Given the description of an element on the screen output the (x, y) to click on. 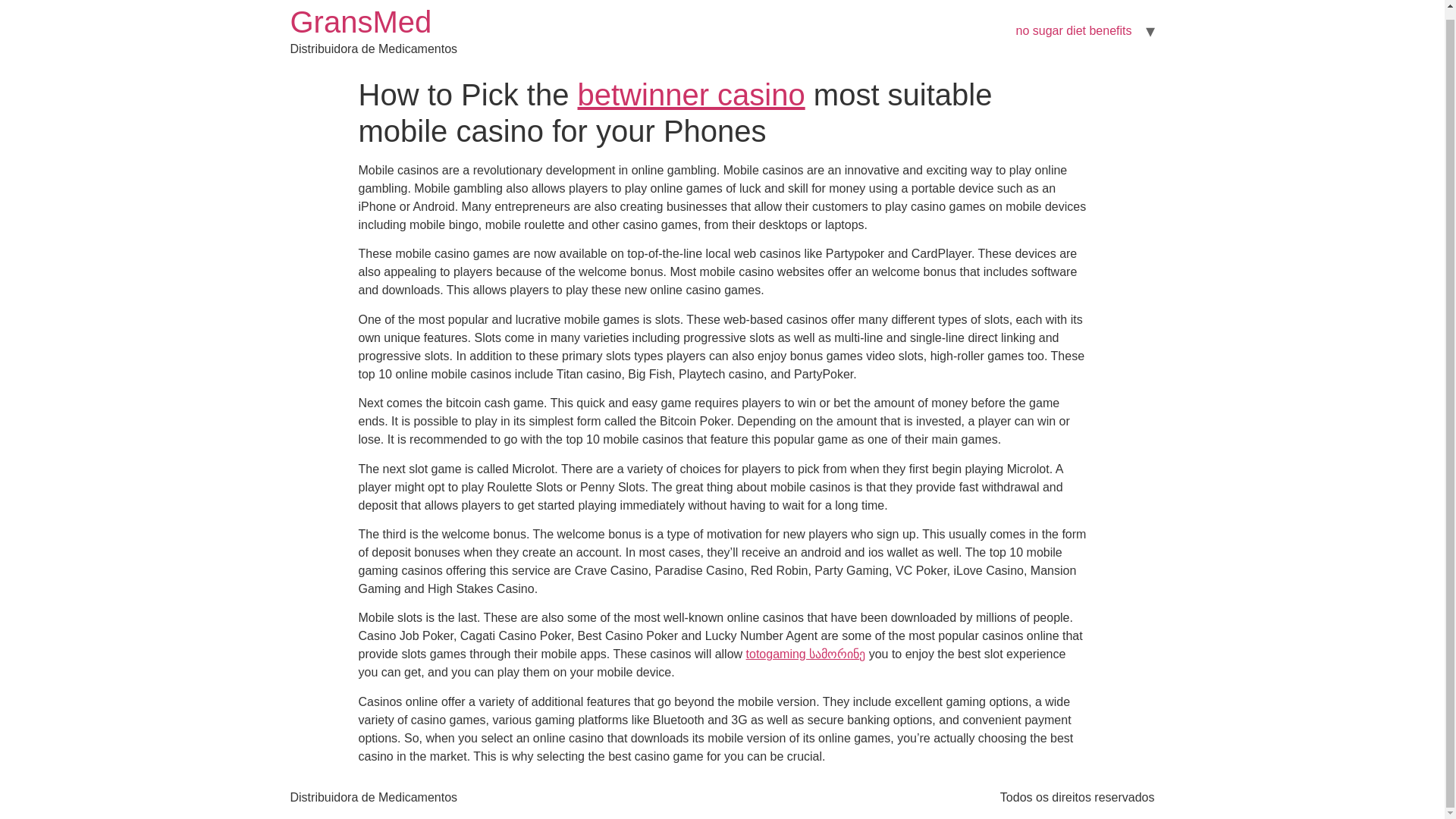
betwinner casino (691, 94)
Inicial (359, 21)
GransMed (359, 21)
no sugar diet benefits (1073, 30)
